Given the description of an element on the screen output the (x, y) to click on. 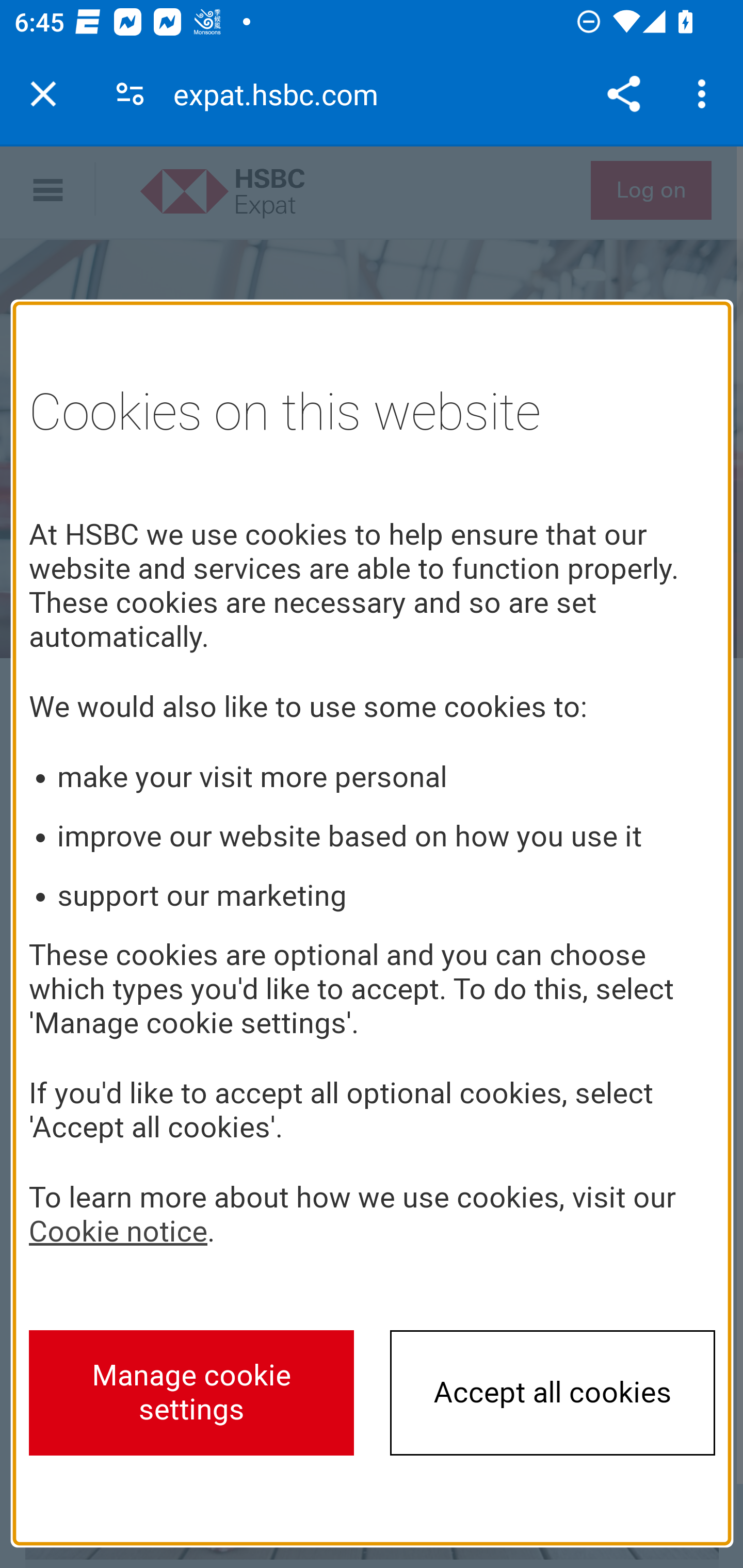
Close tab (43, 93)
Share (623, 93)
Customize and control Google Chrome (705, 93)
Connection is secure (129, 93)
expat.hsbc.com (282, 93)
Cookie notice (117, 1231)
Manage cookie settings (191, 1392)
Accept all cookies (553, 1392)
